Given the description of an element on the screen output the (x, y) to click on. 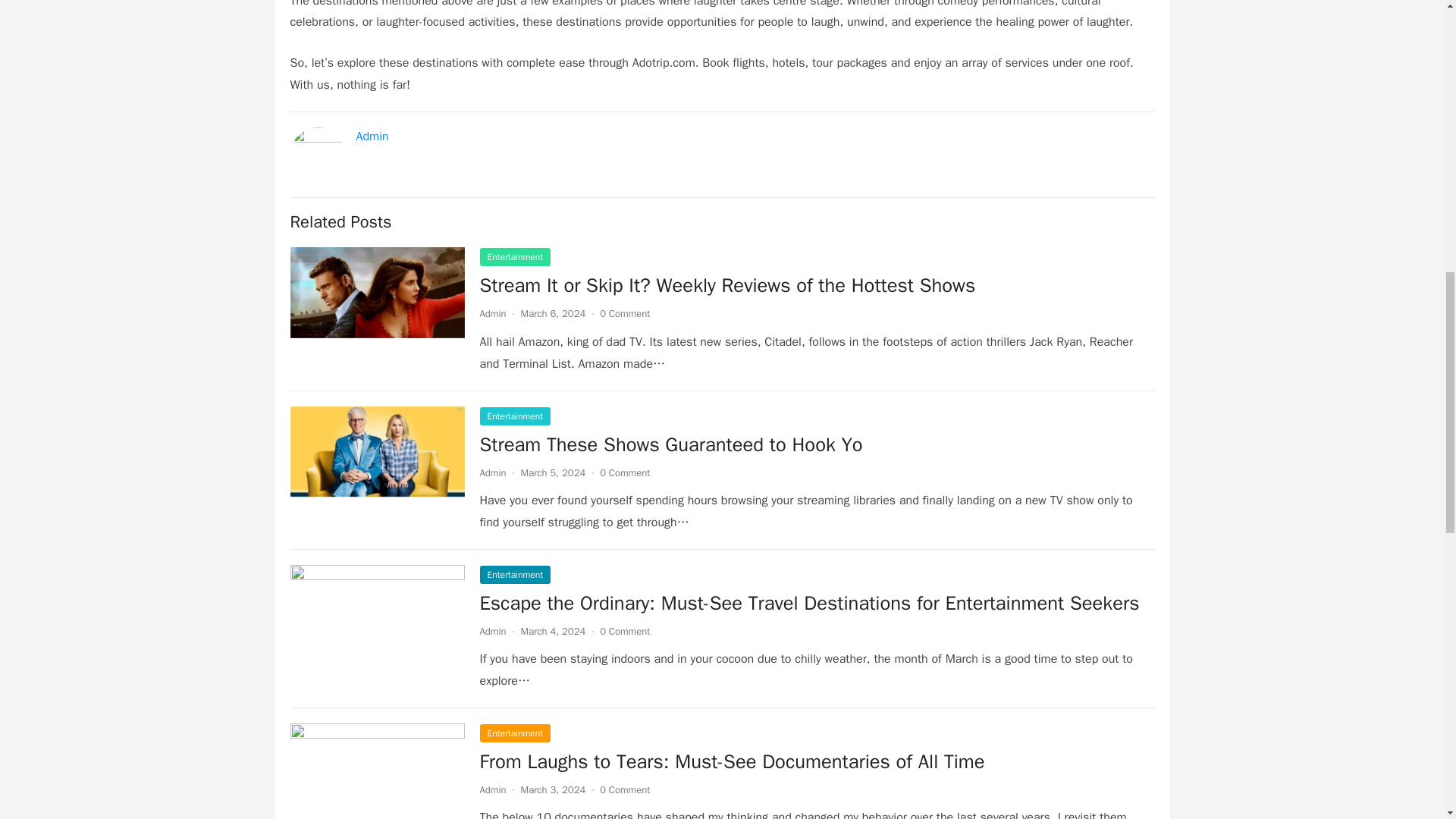
Entertainment (514, 416)
Posts by Admin (492, 789)
Admin (492, 631)
Admin (492, 313)
Entertainment (514, 732)
0 Comment (624, 472)
0 Comment (624, 313)
Admin (372, 136)
Entertainment (514, 257)
0 Comment (624, 631)
